Given the description of an element on the screen output the (x, y) to click on. 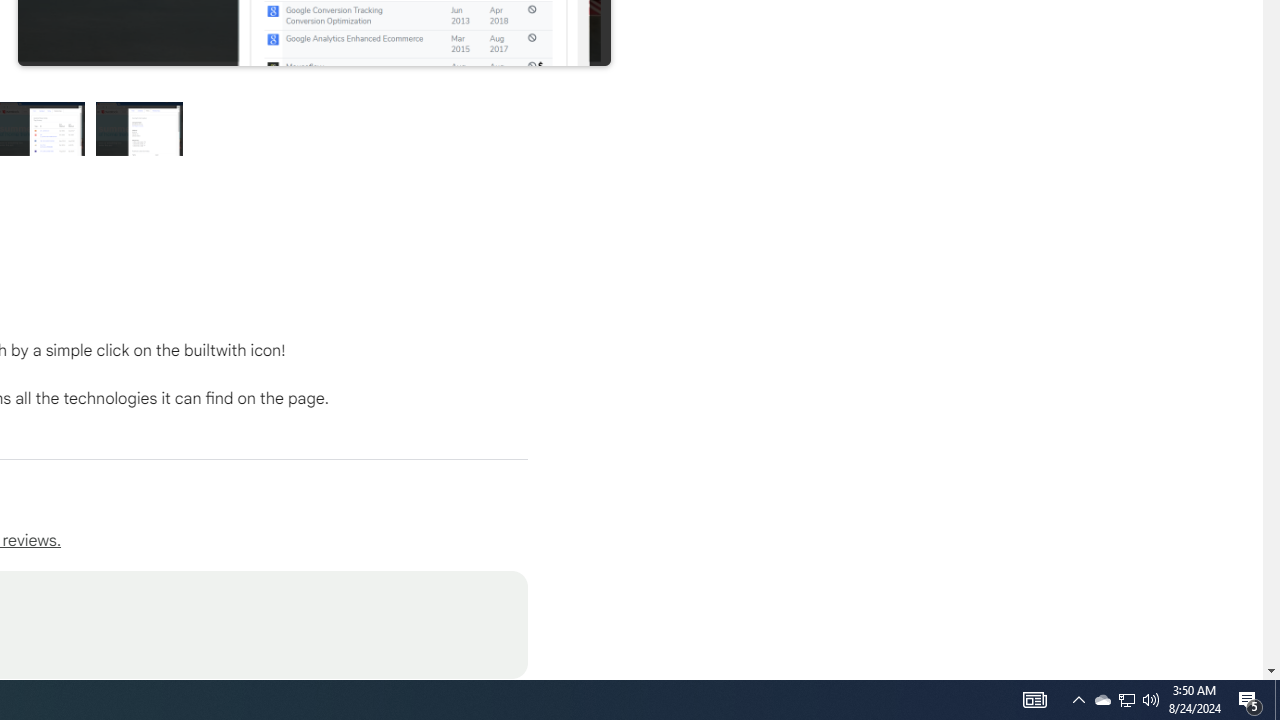
Preview slide 4 (140, 128)
